Given the description of an element on the screen output the (x, y) to click on. 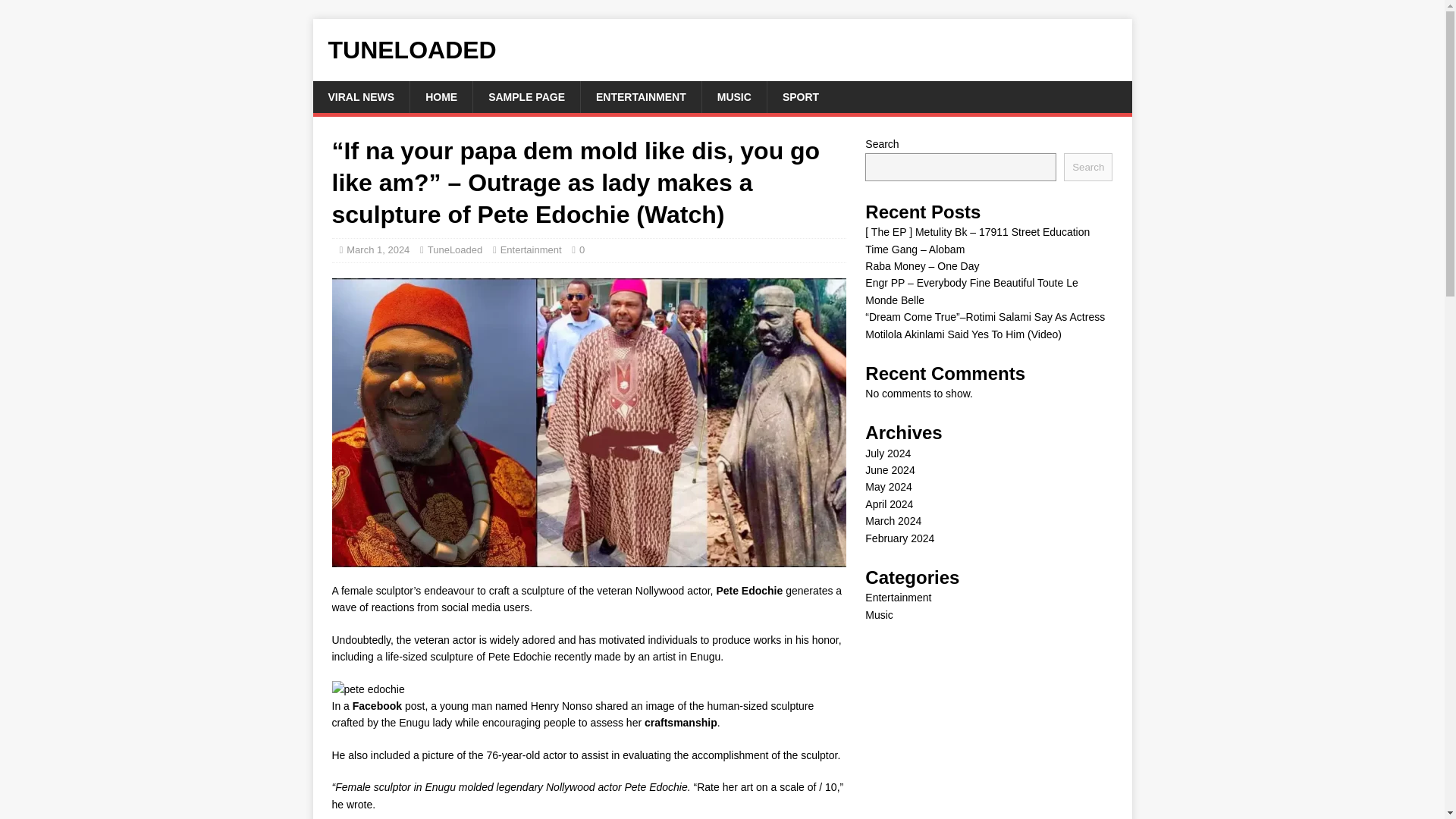
March 1, 2024 (377, 249)
Search (1088, 166)
0 (582, 249)
February 2024 (899, 538)
Entertainment (897, 597)
Music (878, 614)
May 2024 (887, 486)
TUNELOADED (721, 49)
HOME (440, 97)
TuneLoaded (455, 249)
July 2024 (887, 453)
0 (582, 249)
SAMPLE PAGE (525, 97)
March 2024 (892, 521)
Entertainment (531, 249)
